Given the description of an element on the screen output the (x, y) to click on. 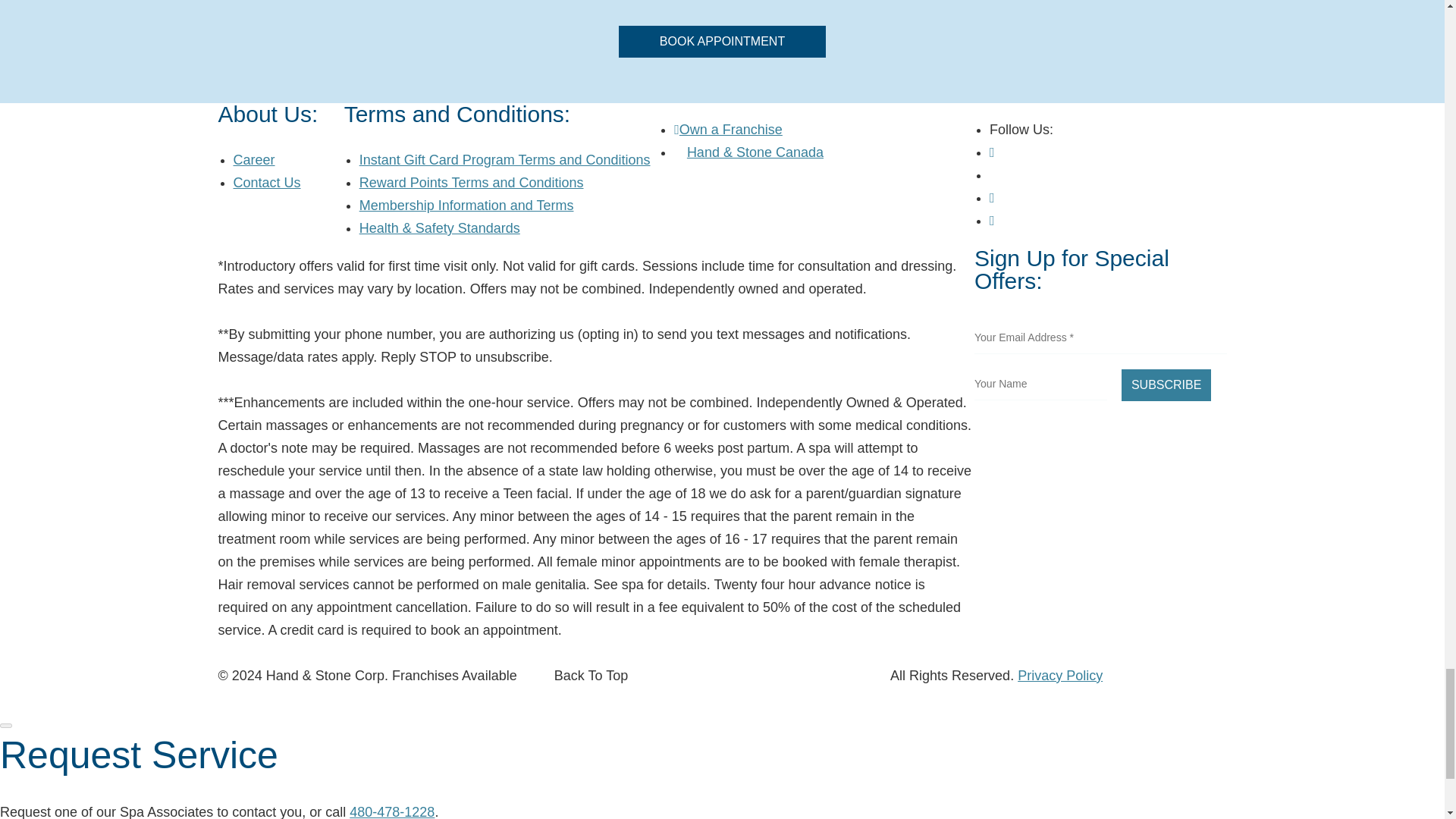
Find Us On Twitter (995, 173)
Back To Top (590, 675)
Subscribe (1166, 385)
